Given the description of an element on the screen output the (x, y) to click on. 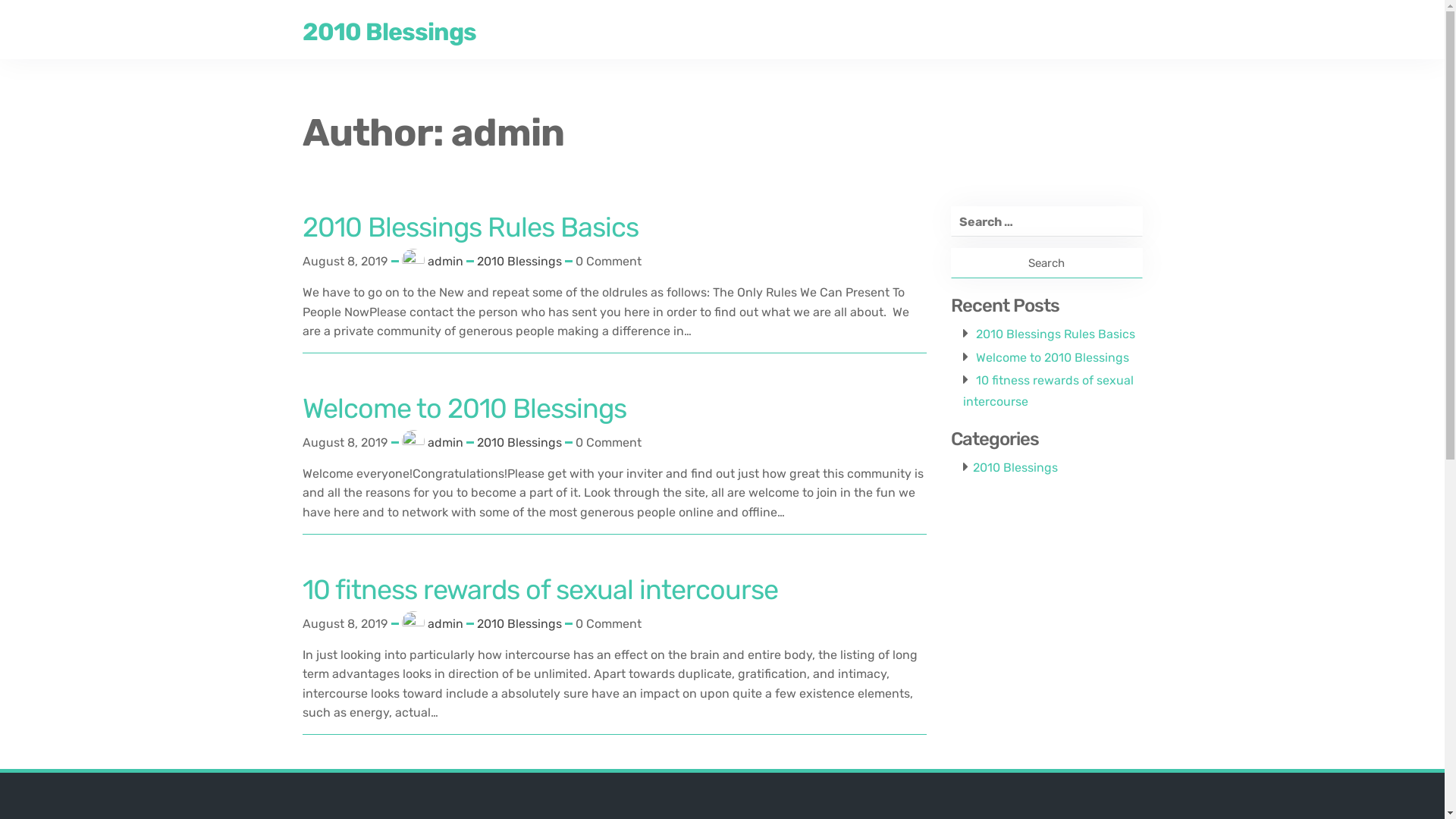
Welcome to 2010 Blessings Element type: text (1051, 357)
2010 Blessings Element type: text (518, 623)
2010 Blessings Rules Basics Element type: text (469, 232)
2010 Blessings Element type: text (518, 261)
2010 Blessings Element type: text (388, 31)
Search Element type: text (1046, 262)
10 fitness rewards of sexual intercourse Element type: text (539, 594)
admin Element type: text (445, 261)
2010 Blessings Element type: text (1014, 467)
admin Element type: text (445, 442)
2010 Blessings Rules Basics Element type: text (1054, 333)
2010 Blessings Element type: text (518, 442)
10 fitness rewards of sexual intercourse Element type: text (1048, 390)
Welcome to 2010 Blessings Element type: text (463, 413)
admin Element type: text (445, 623)
